Given the description of an element on the screen output the (x, y) to click on. 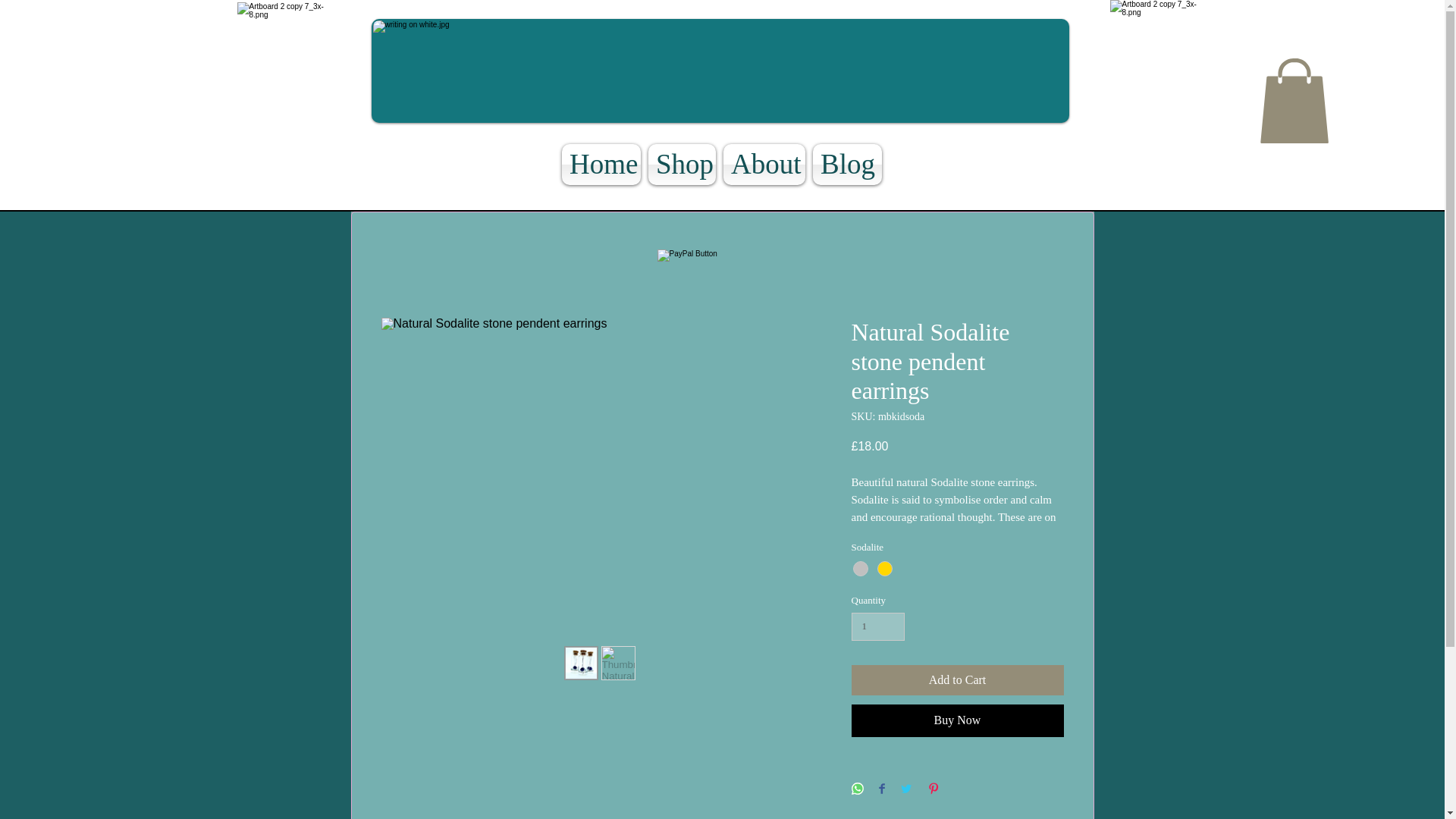
Blog (847, 164)
1 (877, 626)
Shop (682, 164)
Buy Now (956, 720)
Add to Cart (956, 680)
Home (601, 164)
About (764, 164)
